Given the description of an element on the screen output the (x, y) to click on. 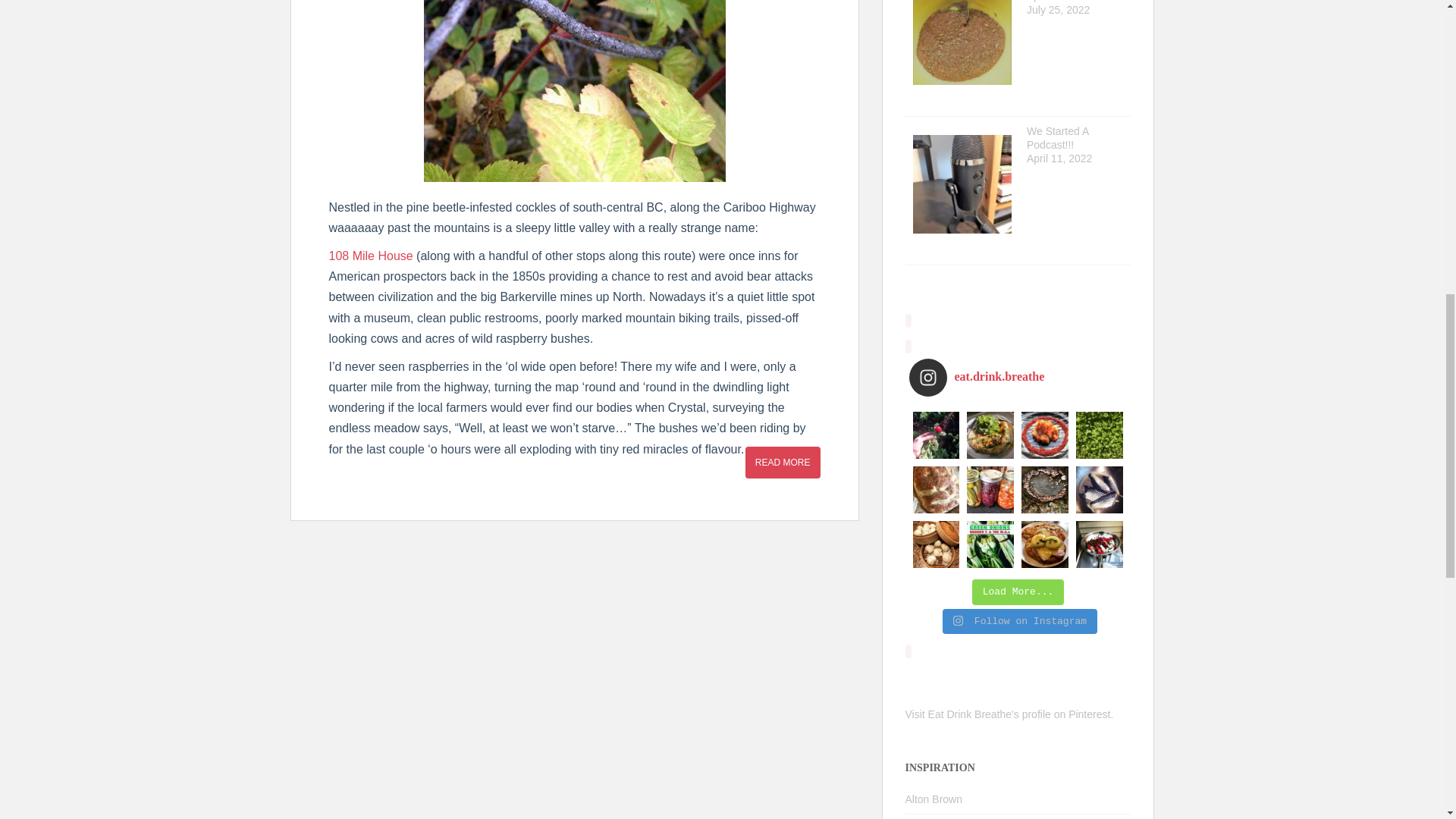
We Started A Podcast!!! (1056, 137)
READ MORE (783, 462)
Load More... (1018, 592)
Visit Eat Drink Breathe's profile on Pinterest. (1009, 714)
Follow on Instagram (1019, 621)
108 Mile House (371, 255)
eat.drink.breathe (1017, 377)
What? You dont know who Alton Brown is? (933, 799)
